Given the description of an element on the screen output the (x, y) to click on. 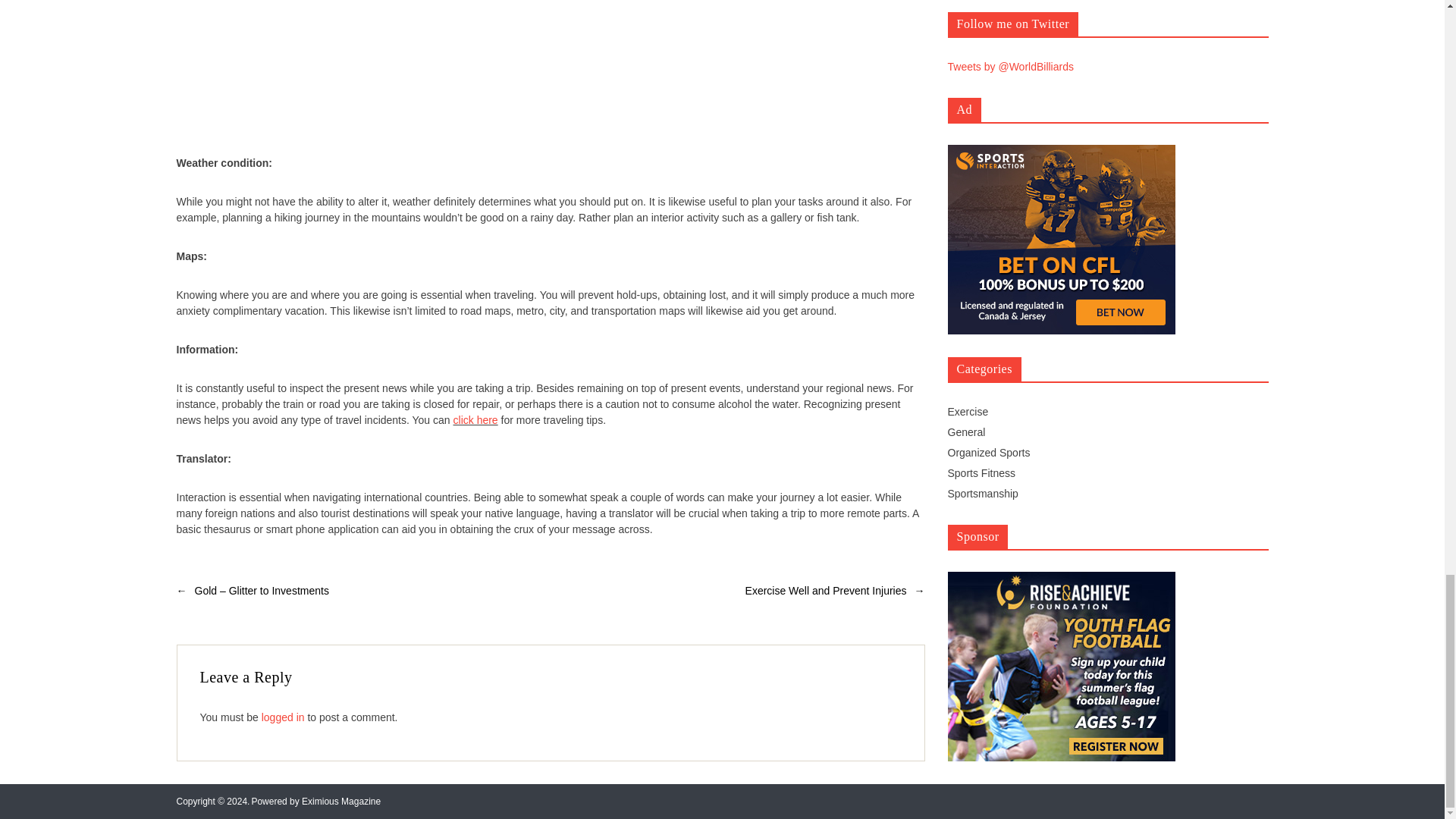
click here (474, 419)
logged in (283, 717)
